Given the description of an element on the screen output the (x, y) to click on. 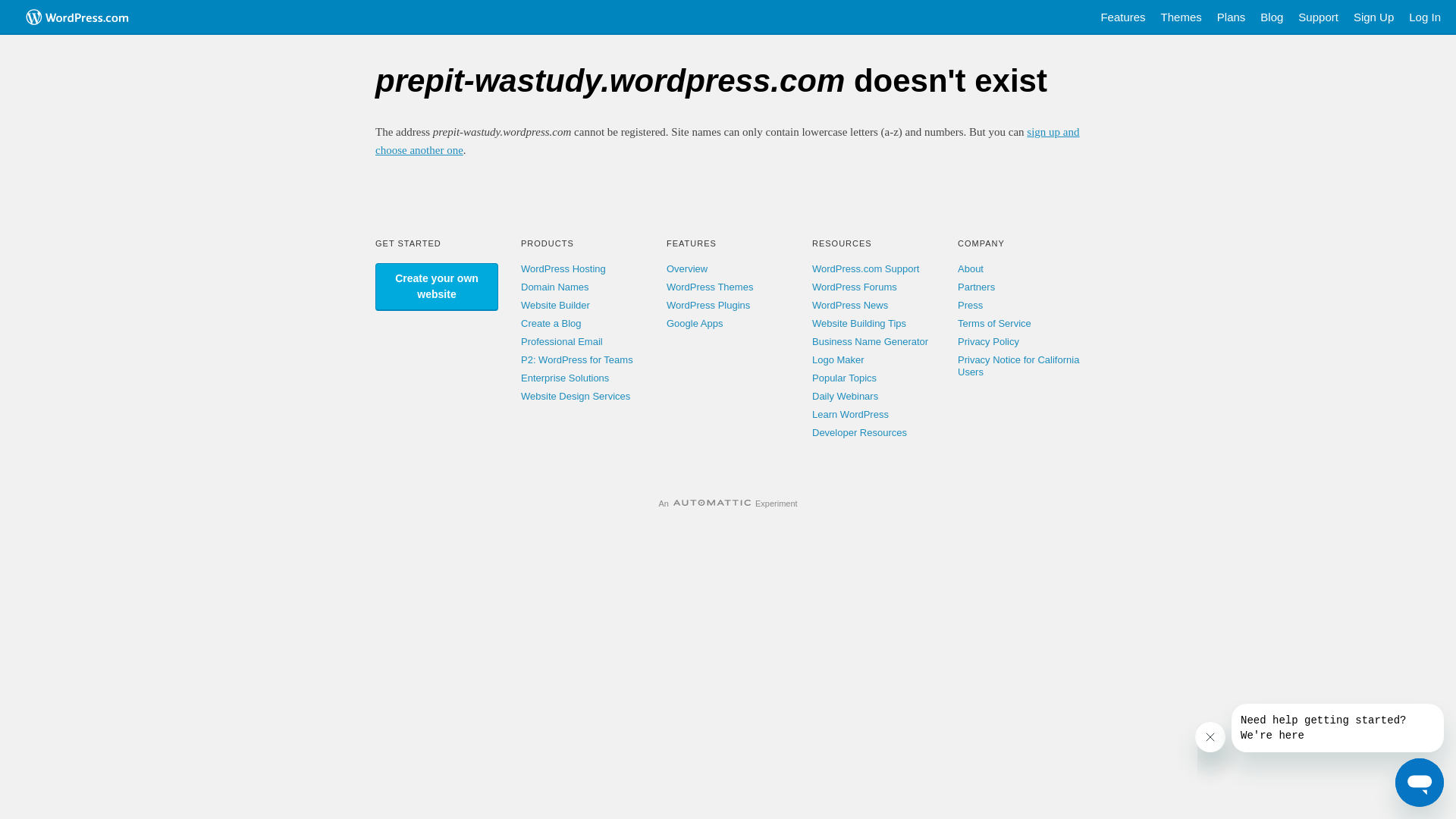
Close message Element type: hover (1210, 736)
Blog Element type: text (1271, 17)
Website Design Services Element type: text (575, 395)
Support Element type: text (1318, 17)
Domain Names Element type: text (554, 286)
Overview Element type: text (686, 268)
Partners Element type: text (975, 286)
Automattic Element type: text (711, 503)
Press Element type: text (969, 304)
Button to launch messaging window Element type: hover (1419, 782)
Sign Up Element type: text (1373, 17)
Create your own website Element type: text (436, 286)
Terms of Service Element type: text (994, 323)
Privacy Policy Element type: text (988, 341)
Popular Topics Element type: text (844, 377)
Google Apps Element type: text (694, 323)
Learn WordPress Element type: text (850, 414)
Log In Element type: text (1424, 17)
Business Name Generator Element type: text (870, 341)
Logo Maker Element type: text (838, 359)
Daily Webinars Element type: text (845, 395)
Website Building Tips Element type: text (859, 323)
Themes Element type: text (1181, 17)
Enterprise Solutions Element type: text (564, 377)
Developer Resources Element type: text (859, 432)
Professional Email Element type: text (561, 341)
P2: WordPress for Teams Element type: text (576, 359)
sign up and choose another one Element type: text (727, 140)
Message from company Element type: hover (1337, 727)
WordPress Themes Element type: text (709, 286)
Website Builder Element type: text (554, 304)
Privacy Notice for California Users Element type: text (1018, 365)
WordPress News Element type: text (850, 304)
Create a Blog Element type: text (550, 323)
WordPress.com Support Element type: text (865, 268)
Features Element type: text (1122, 17)
Plans Element type: text (1231, 17)
About Element type: text (970, 268)
WordPress Forums Element type: text (854, 286)
WordPress Plugins Element type: text (707, 304)
WordPress Hosting Element type: text (562, 268)
